Given the description of an element on the screen output the (x, y) to click on. 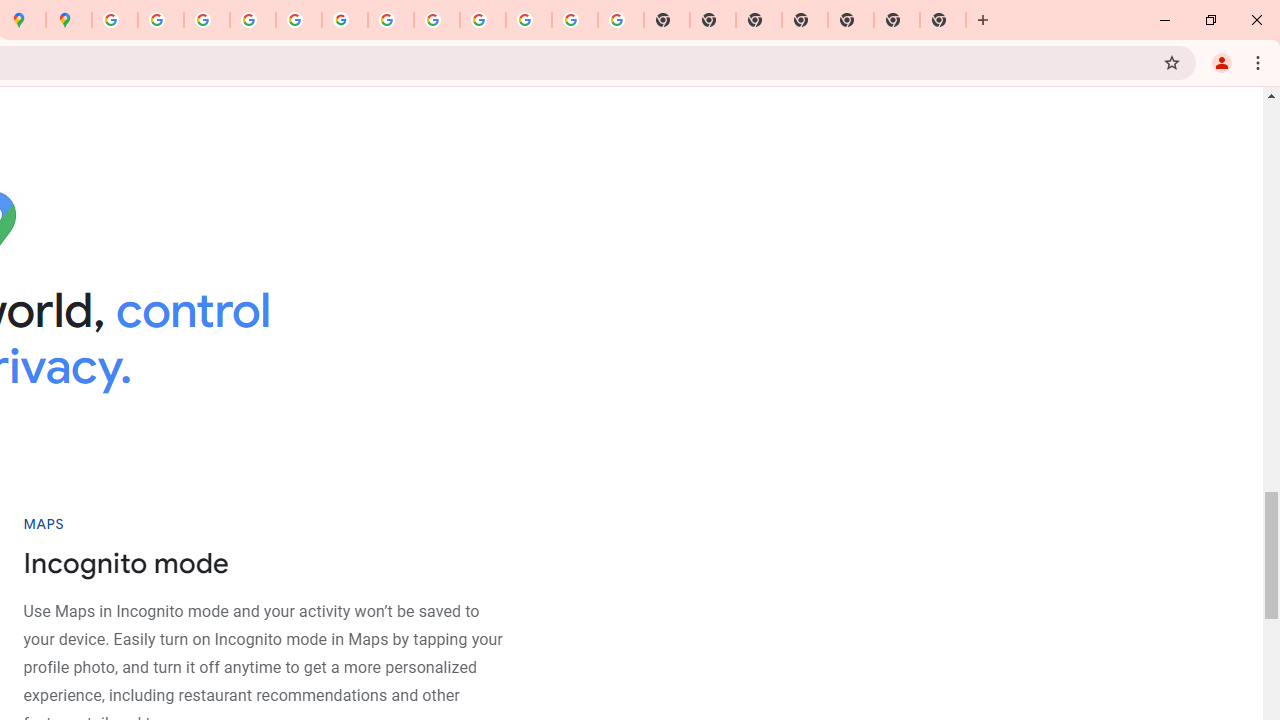
YouTube (390, 20)
New Tab (897, 20)
Privacy Help Center - Policies Help (253, 20)
